Given the description of an element on the screen output the (x, y) to click on. 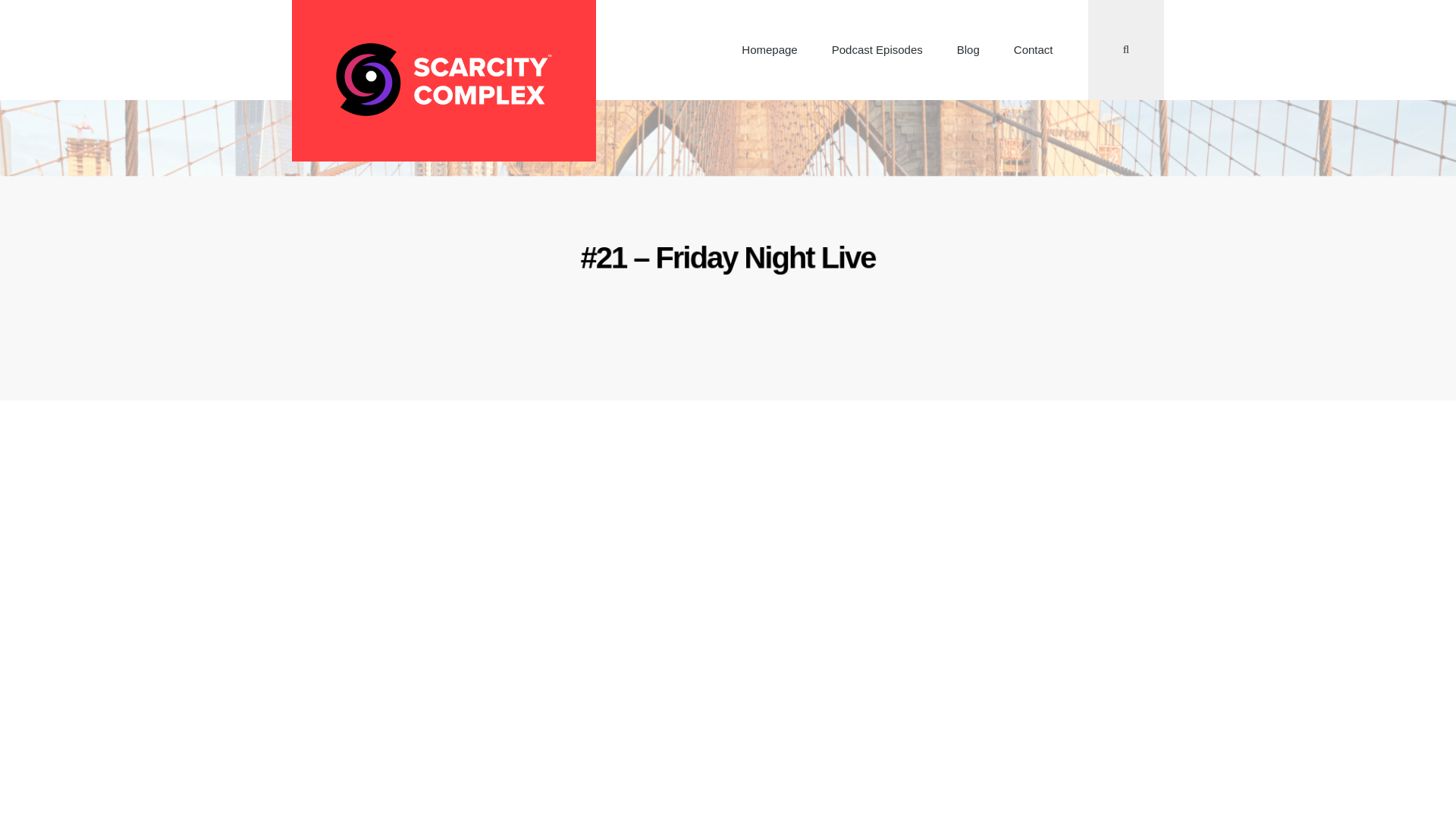
Contact (1032, 50)
Podcast Episodes (876, 50)
Homepage (769, 50)
Blog (967, 50)
